Given the description of an element on the screen output the (x, y) to click on. 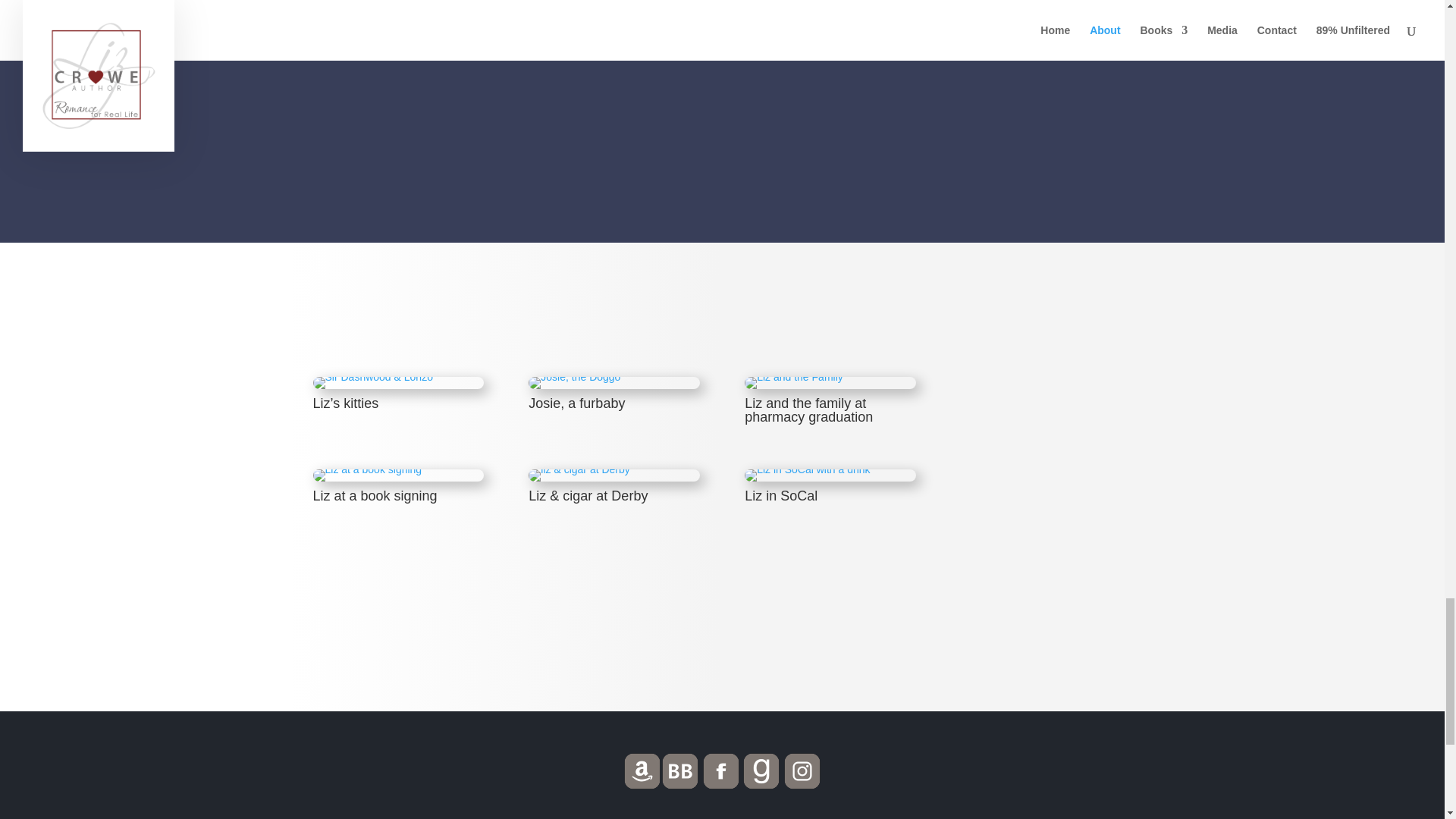
Liz's kitties (372, 377)
Liz at a book signing (367, 468)
Josie, a furbaby (574, 377)
Liz in SoCal (806, 468)
Liz and the family at pharmacy graduation (793, 377)
